Given the description of an element on the screen output the (x, y) to click on. 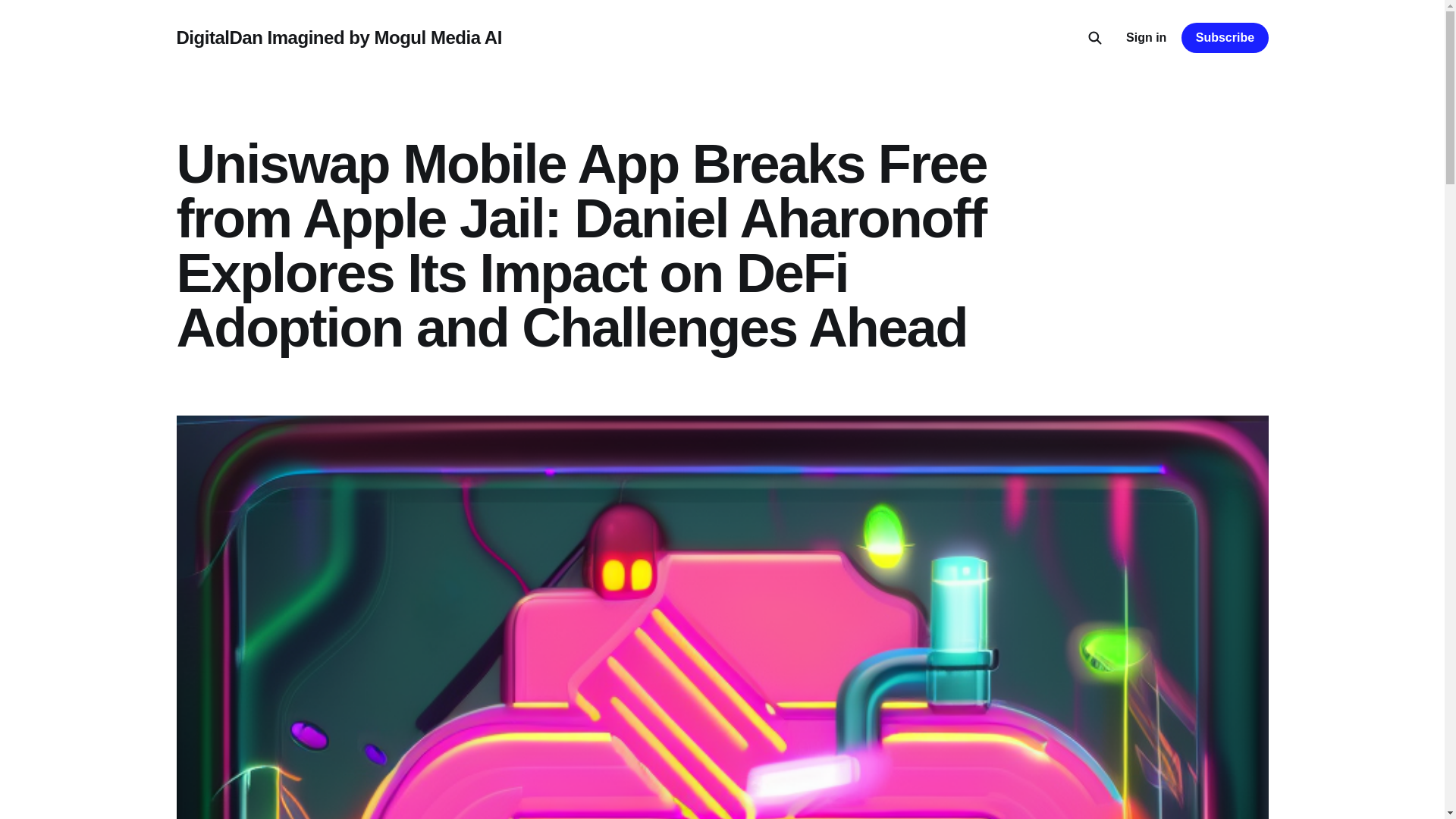
Subscribe (1224, 37)
DigitalDan Imagined by Mogul Media AI (338, 37)
Sign in (1145, 37)
